Given the description of an element on the screen output the (x, y) to click on. 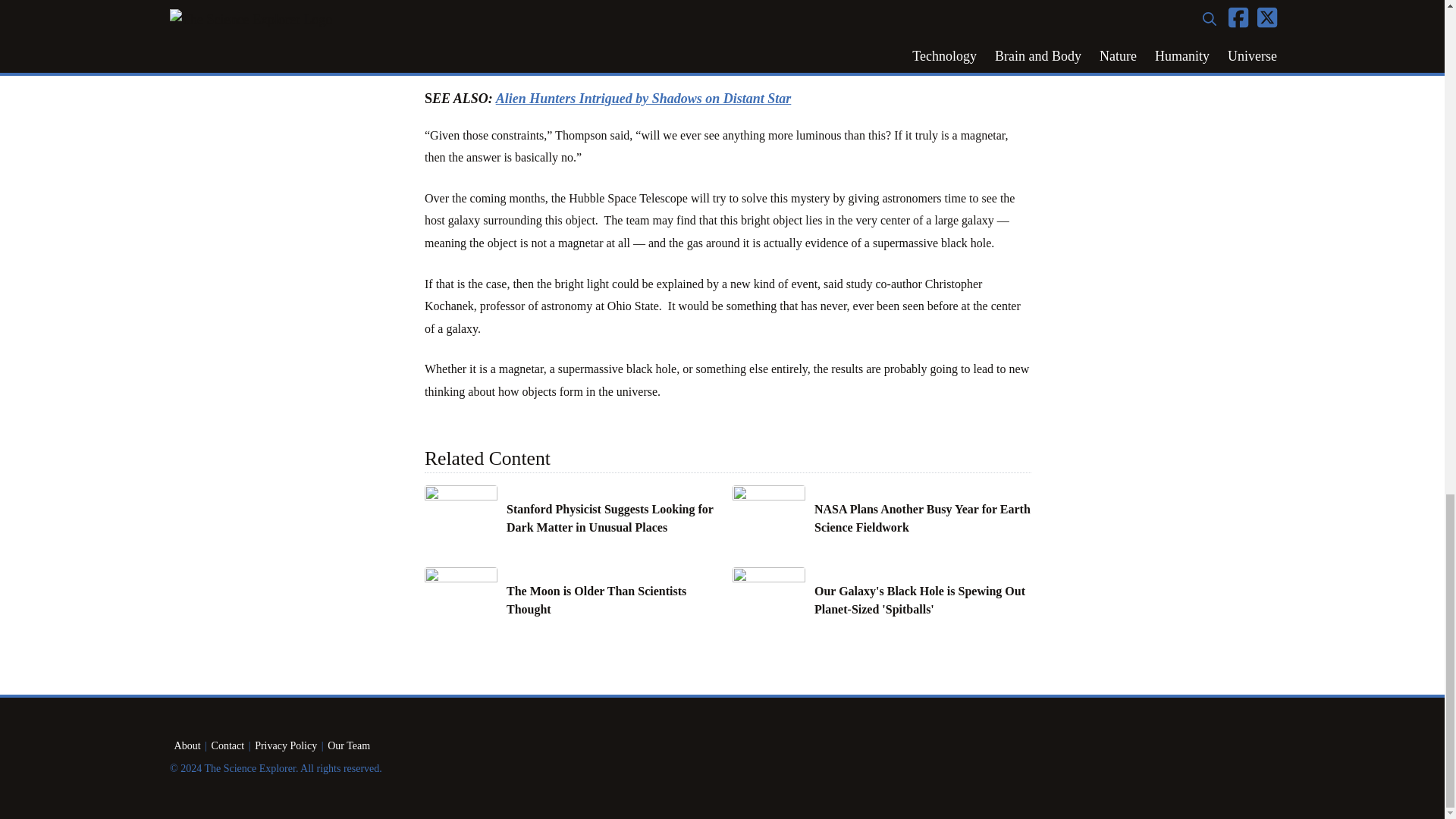
Alien Hunters Intrigued by Shadows on Distant Star (644, 98)
Alien Hunters Intrigued by Shadows on Distant Star (644, 98)
